Given the description of an element on the screen output the (x, y) to click on. 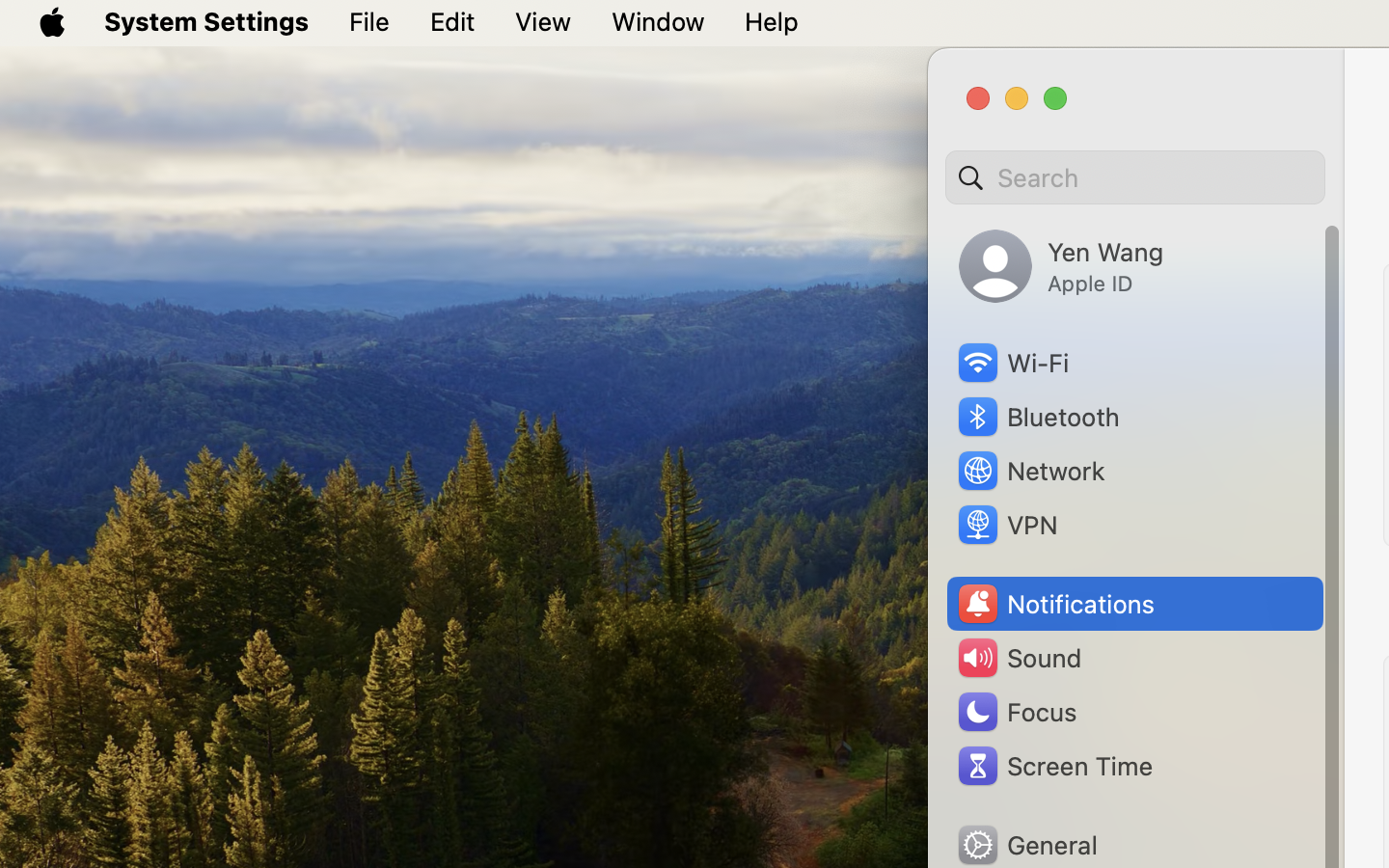
Notifications Element type: AXStaticText (1054, 603)
Sound Element type: AXStaticText (1018, 657)
Network Element type: AXStaticText (1029, 470)
Bluetooth Element type: AXStaticText (1037, 416)
VPN Element type: AXStaticText (1005, 524)
